Given the description of an element on the screen output the (x, y) to click on. 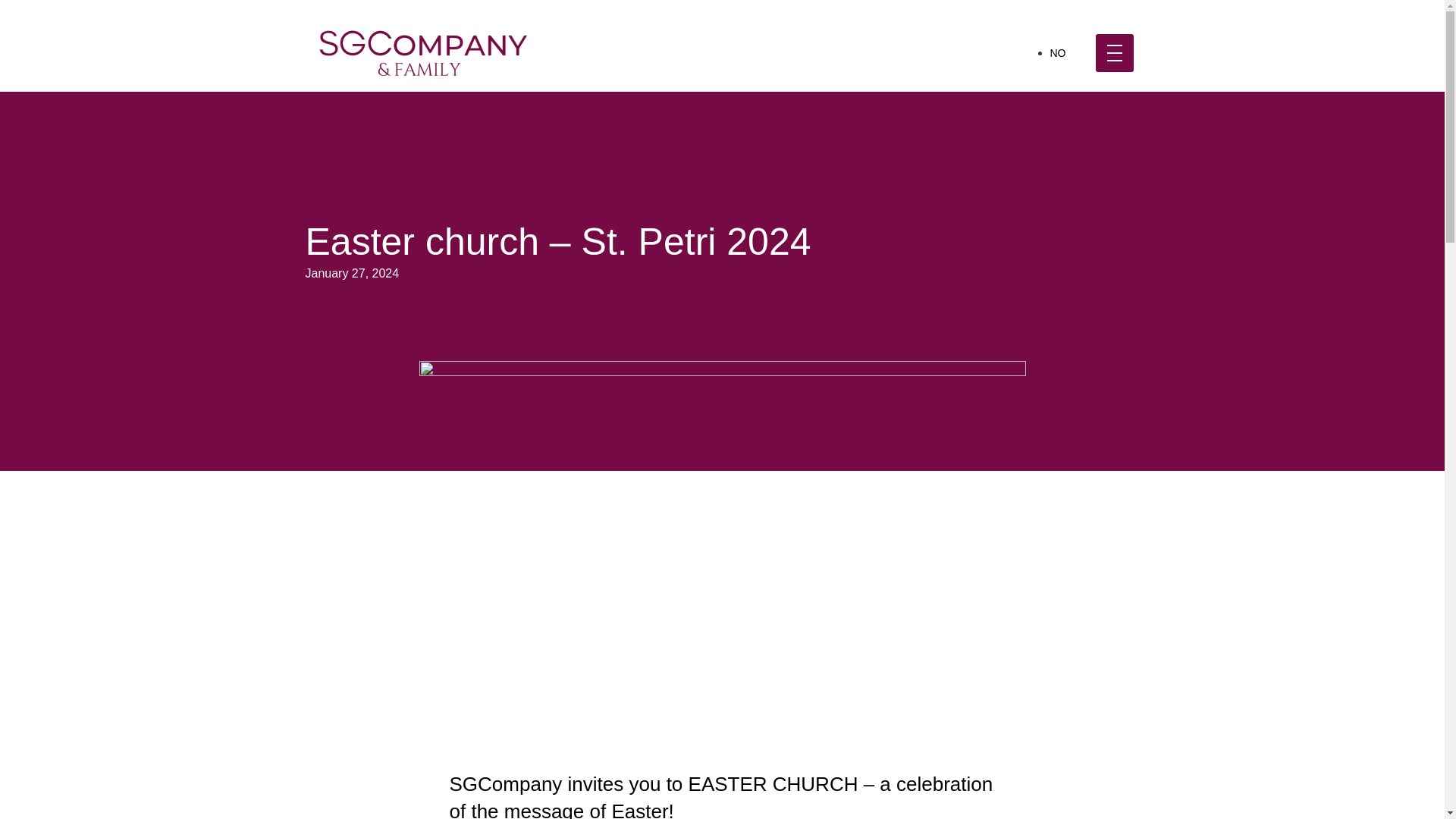
NO (1057, 52)
January 27, 2024 (351, 273)
